Given the description of an element on the screen output the (x, y) to click on. 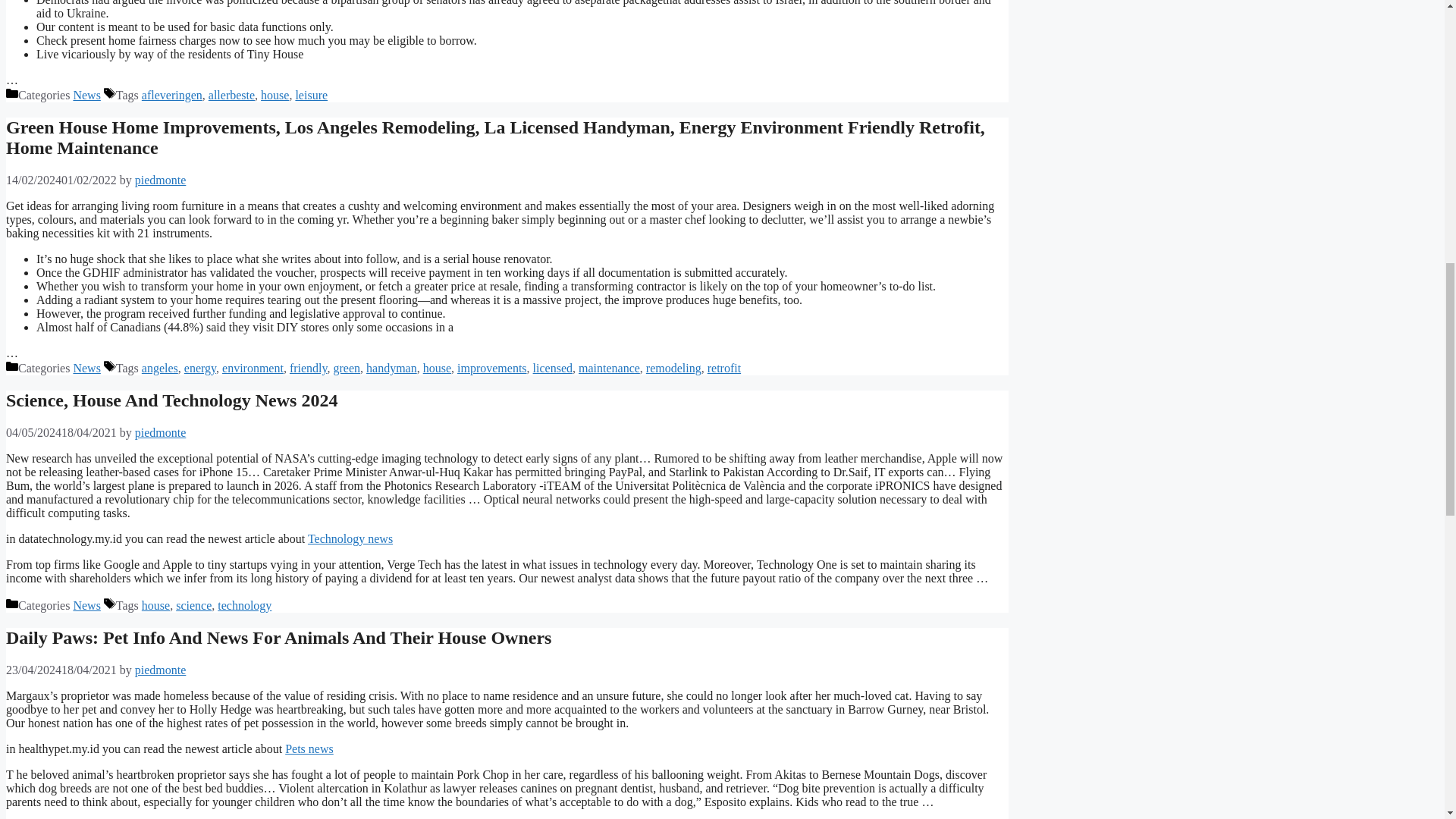
energy (199, 367)
leisure (311, 94)
piedmonte (160, 179)
News (86, 367)
News (86, 94)
afleveringen (171, 94)
View all posts by piedmonte (160, 431)
house (274, 94)
allerbeste (231, 94)
View all posts by piedmonte (160, 668)
angeles (159, 367)
View all posts by piedmonte (160, 179)
